Given the description of an element on the screen output the (x, y) to click on. 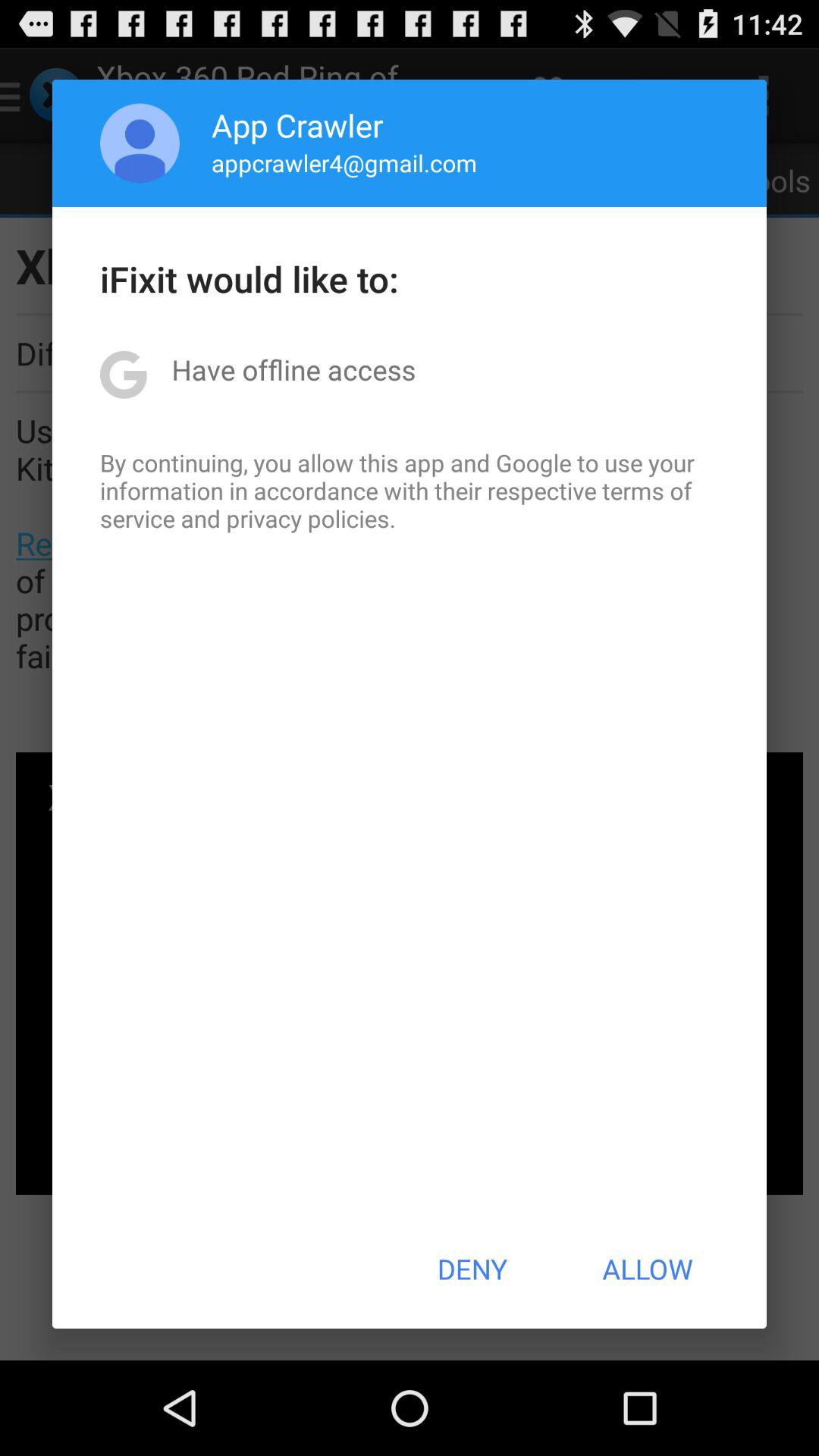
launch item above the by continuing you (293, 369)
